Given the description of an element on the screen output the (x, y) to click on. 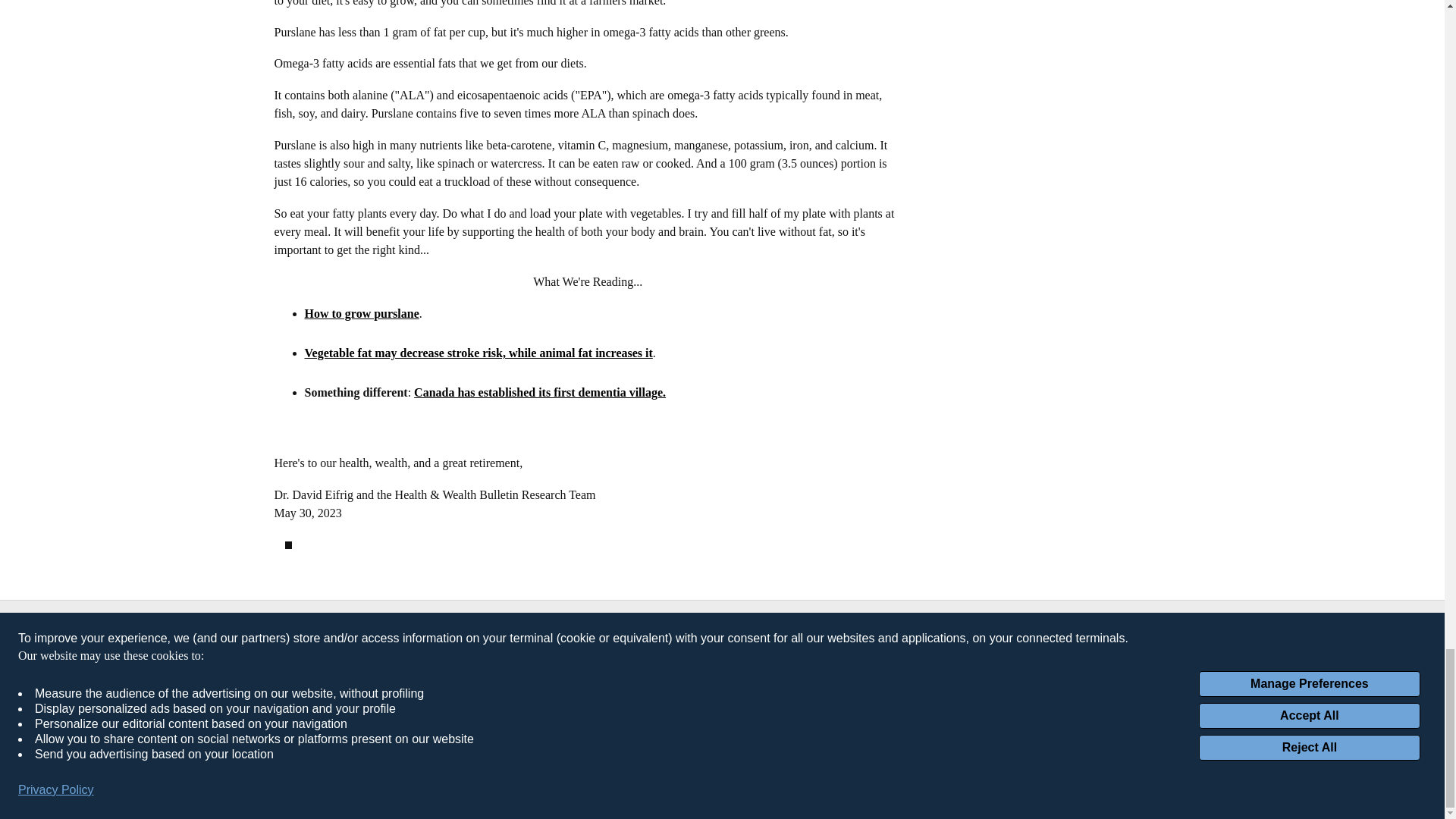
About the Letter (653, 637)
Investor Hour (488, 657)
Daily Wealth (486, 637)
Contact Us (641, 657)
Privacy Policy (807, 637)
Canada has established its first dementia village. (539, 391)
Whitelisting Us (650, 677)
DMCA (790, 657)
Stansberry Research (506, 677)
How to grow purslane (361, 313)
